Given the description of an element on the screen output the (x, y) to click on. 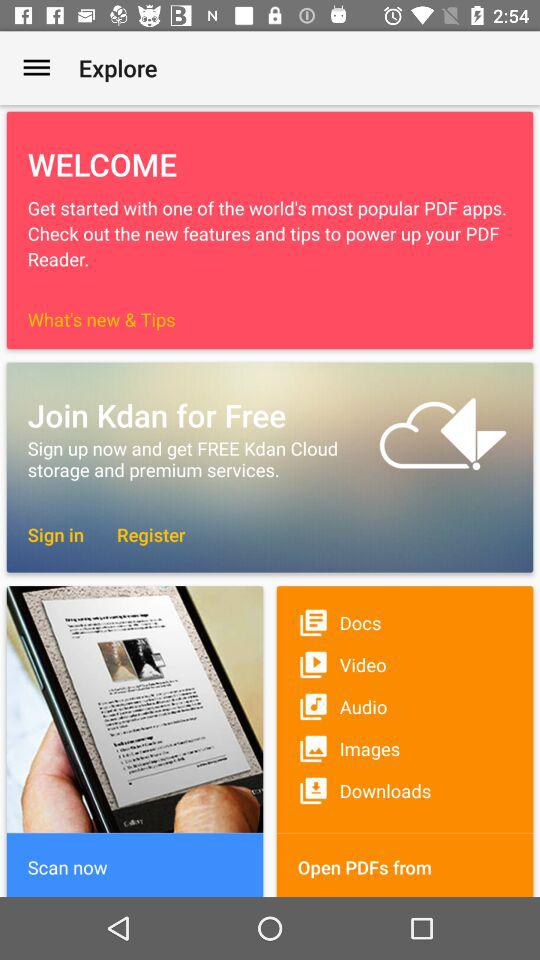
open item below sign up now icon (141, 534)
